Given the description of an element on the screen output the (x, y) to click on. 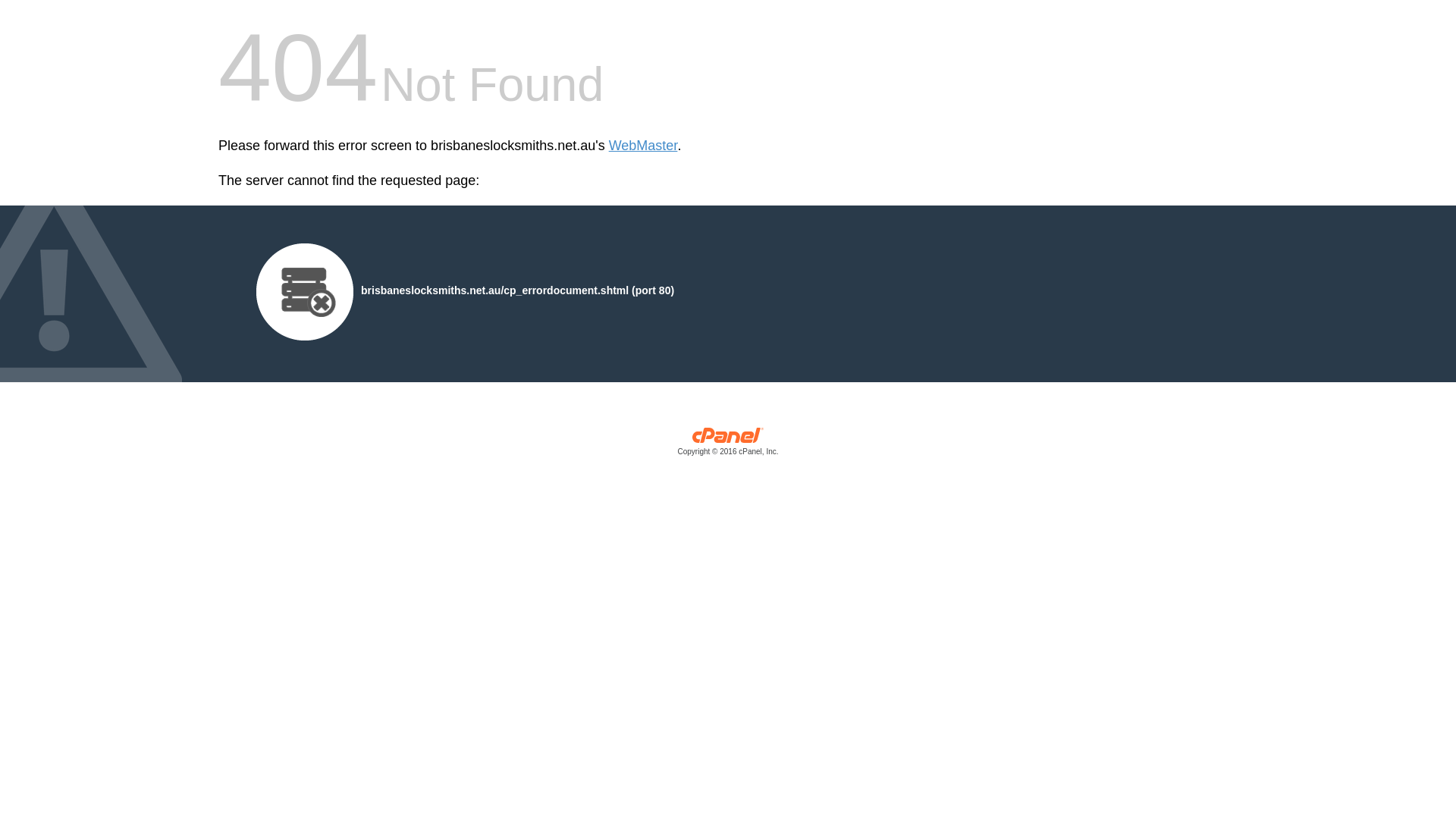
WebMaster Element type: text (642, 145)
